Given the description of an element on the screen output the (x, y) to click on. 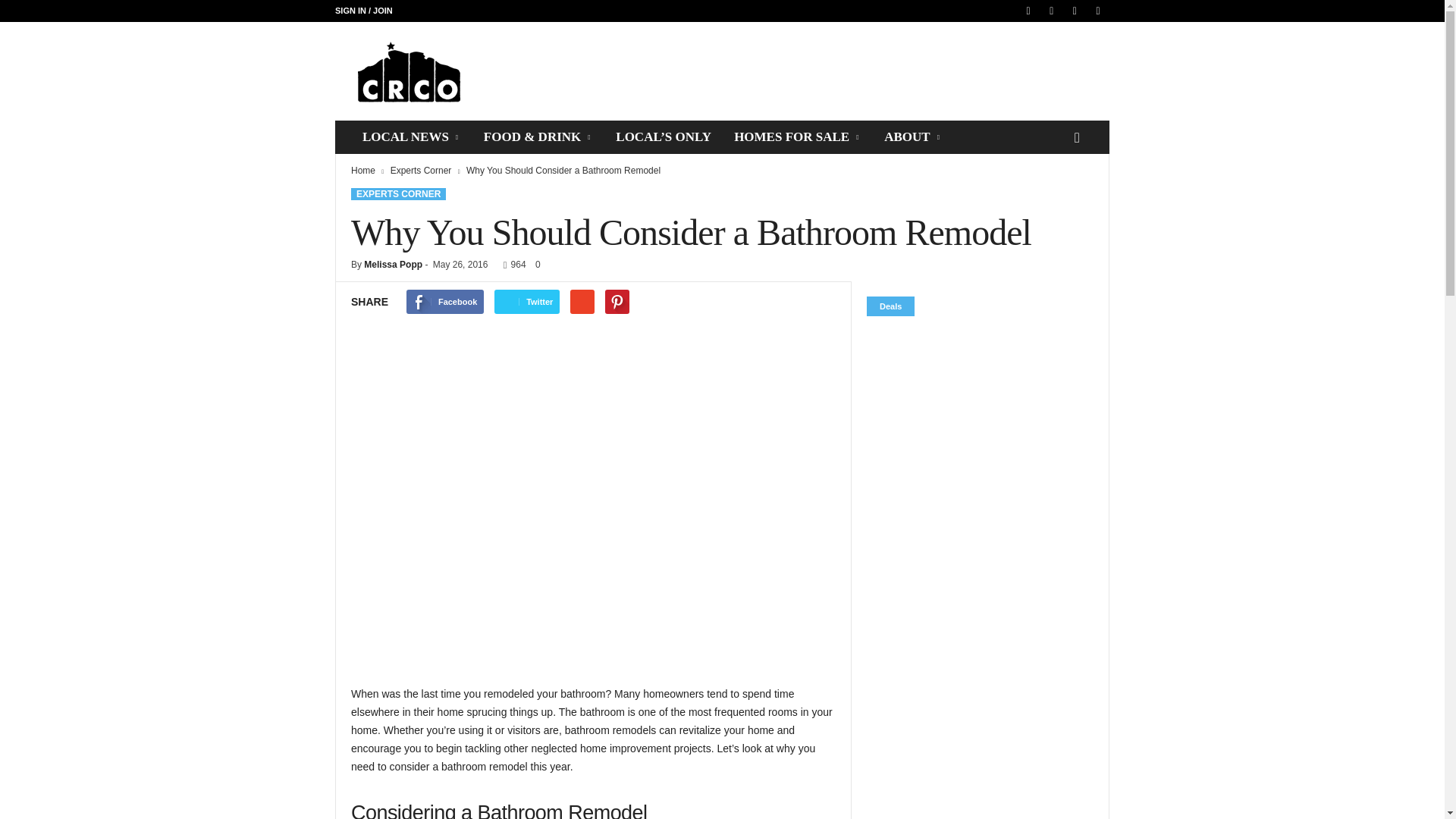
CRCO (437, 70)
LOCAL NEWS (410, 136)
